Given the description of an element on the screen output the (x, y) to click on. 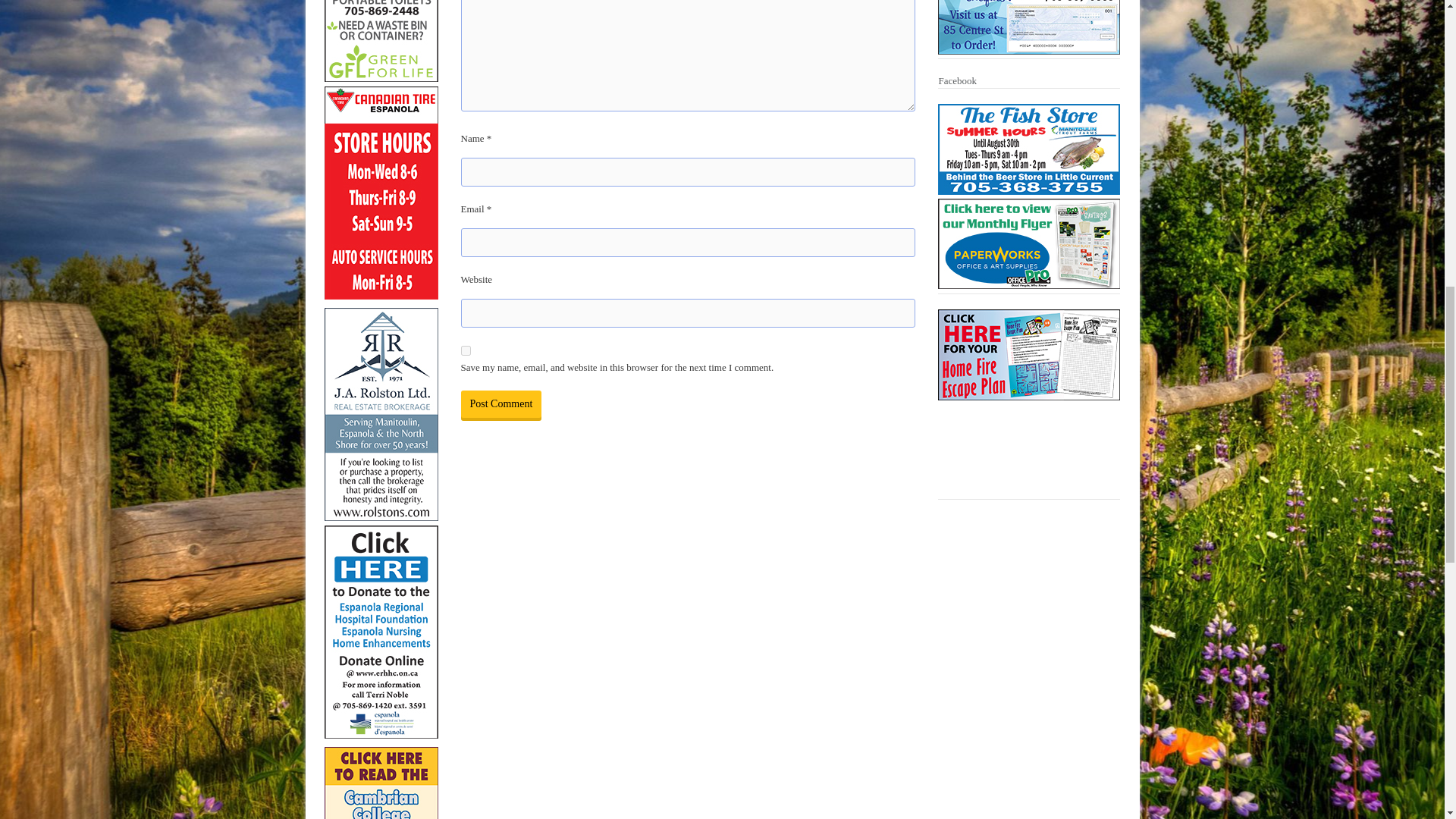
Post Comment (501, 403)
Post Comment (501, 403)
yes (465, 350)
